Given the description of an element on the screen output the (x, y) to click on. 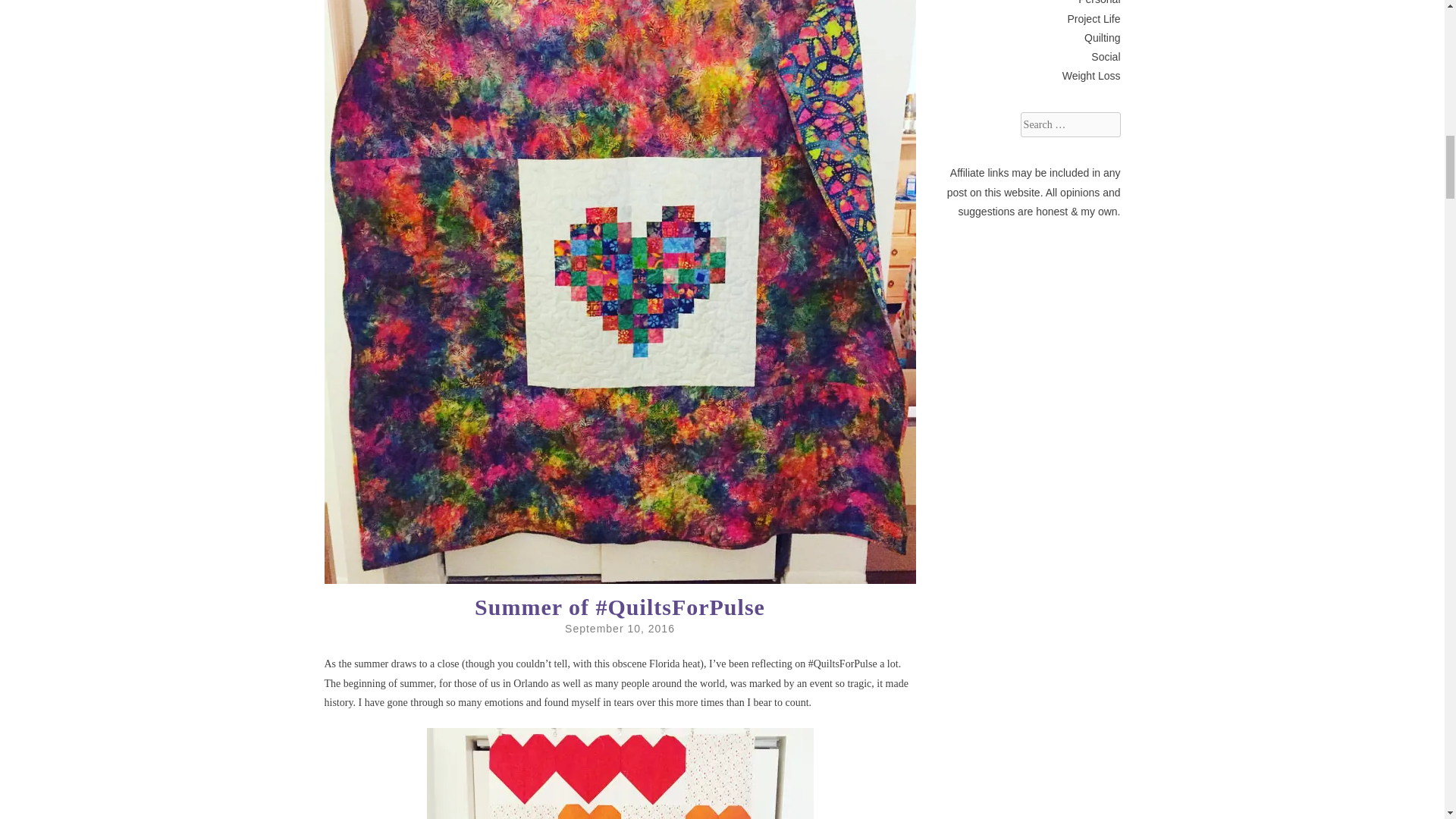
September 10, 2016 (619, 628)
